Given the description of an element on the screen output the (x, y) to click on. 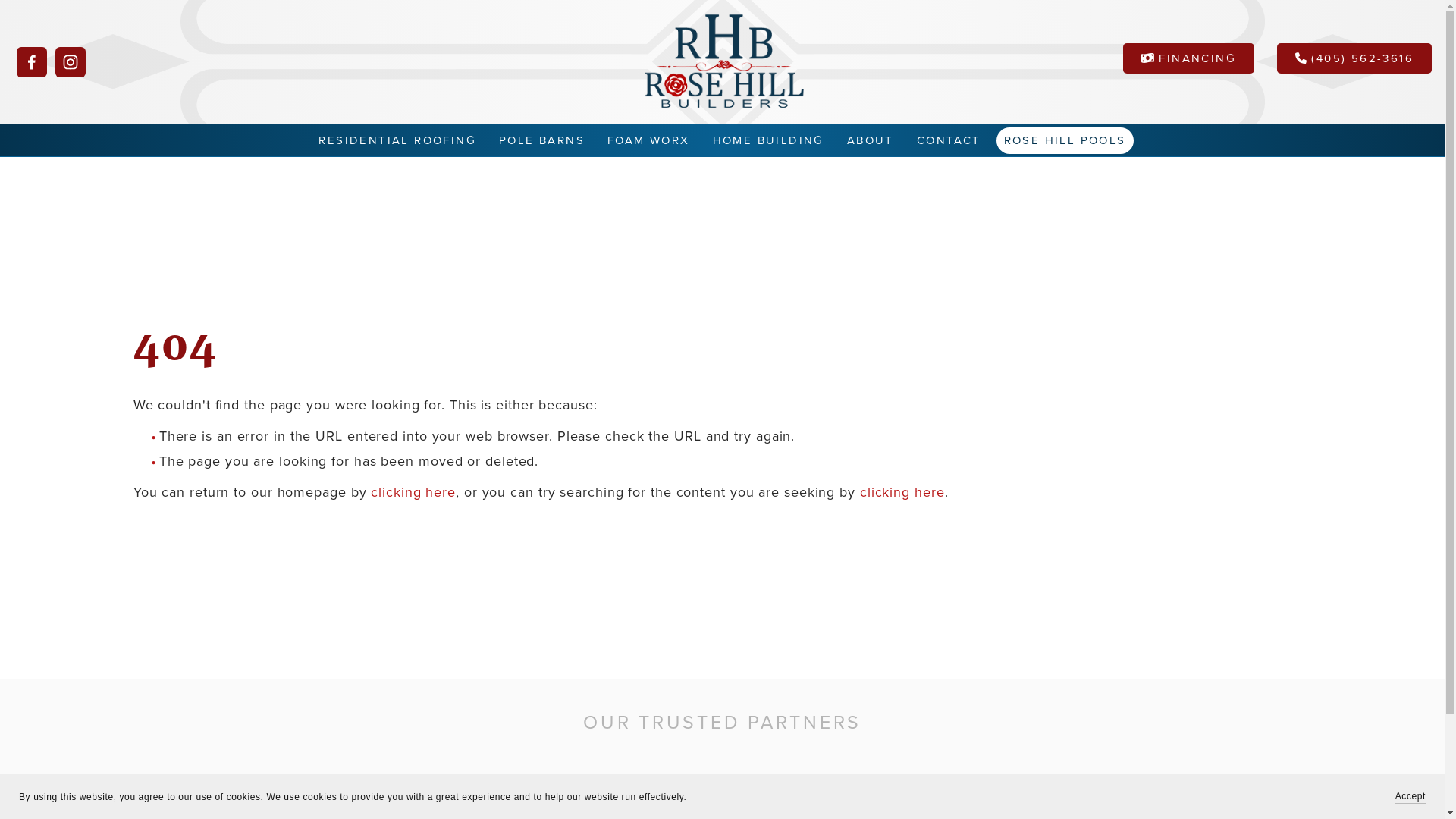
ROSE HILL POOLS Element type: text (1064, 140)
POLE BARNS Element type: text (541, 139)
HOME BUILDING Element type: text (768, 140)
ABOUT Element type: text (870, 139)
FOAM WORX Element type: text (648, 140)
CONTACT Element type: text (948, 140)
RESIDENTIAL ROOFING Element type: text (397, 139)
clicking here Element type: text (412, 492)
FINANCING Element type: text (1188, 58)
Accept Element type: text (1410, 796)
(405) 562-3616 Element type: text (1354, 58)
clicking here Element type: text (901, 492)
